Given the description of an element on the screen output the (x, y) to click on. 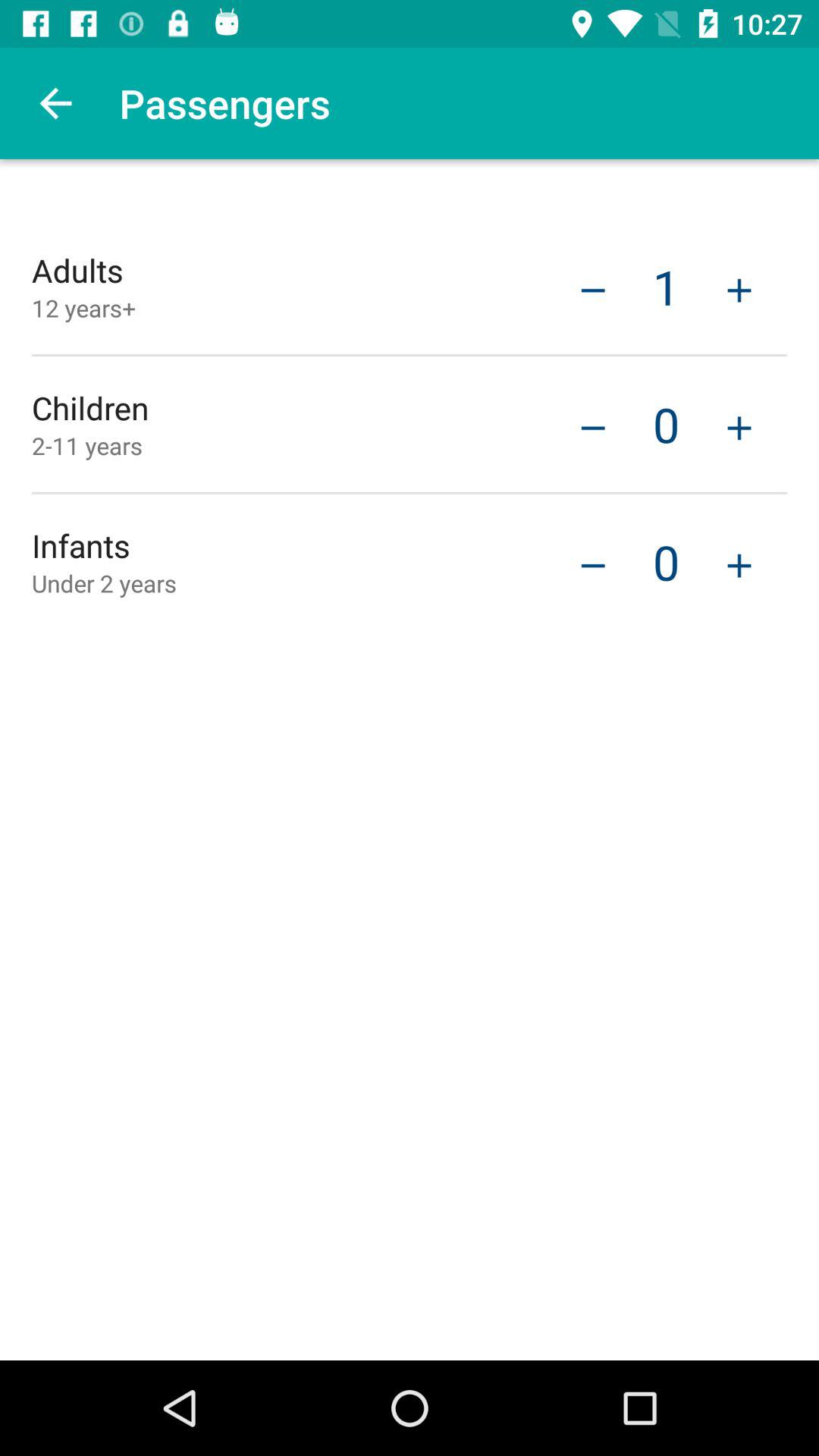
click the icon next to 1 (592, 288)
